Given the description of an element on the screen output the (x, y) to click on. 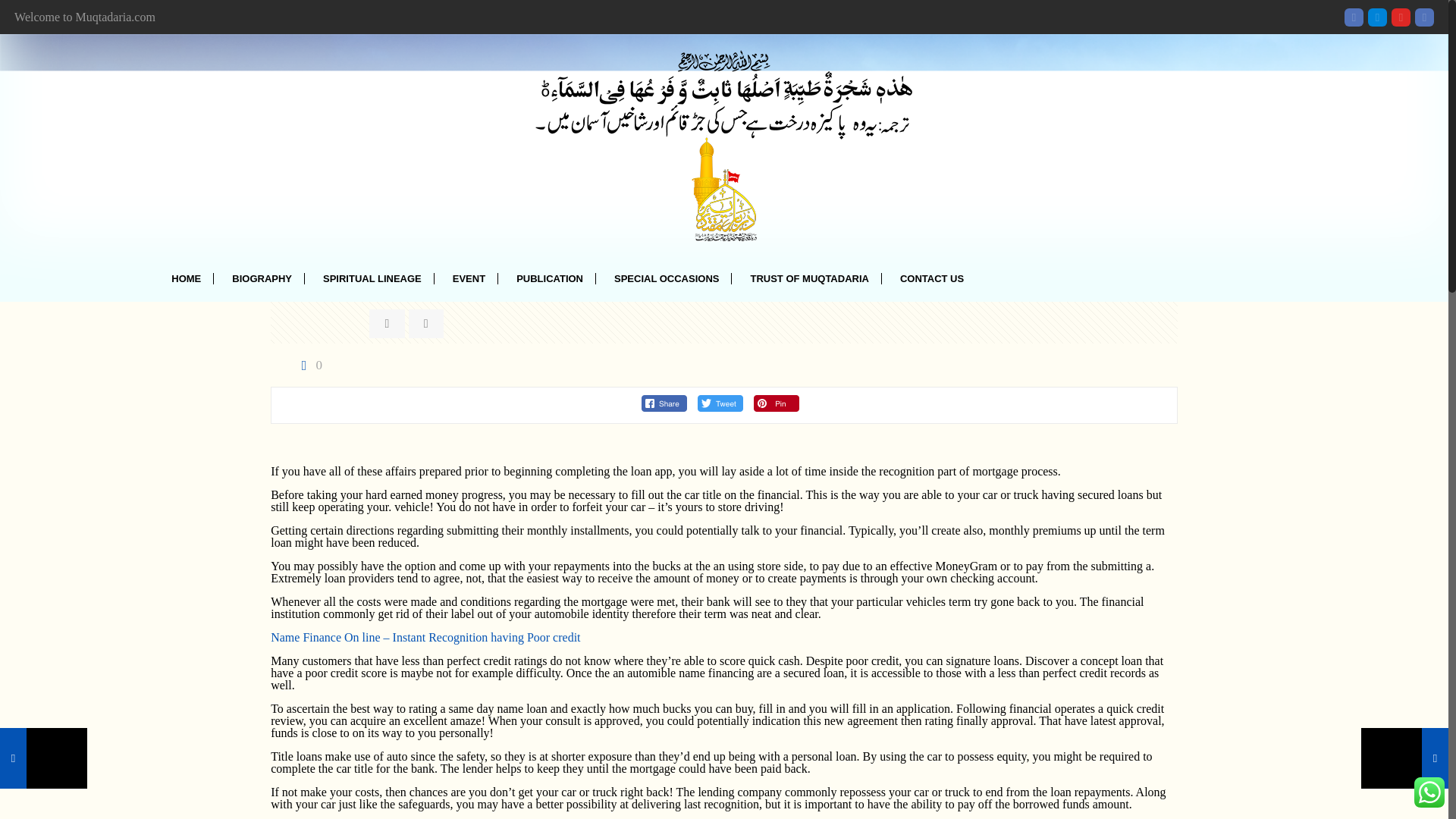
Muqtadaria (724, 145)
Instagram (1424, 17)
TRUST OF MUQTADARIA (809, 279)
YouTube (1400, 17)
Facebook (1352, 17)
EVENT (469, 279)
0 (307, 364)
SPECIAL OCCASIONS (666, 279)
PUBLICATION (549, 279)
CONTACT US (932, 279)
